Given the description of an element on the screen output the (x, y) to click on. 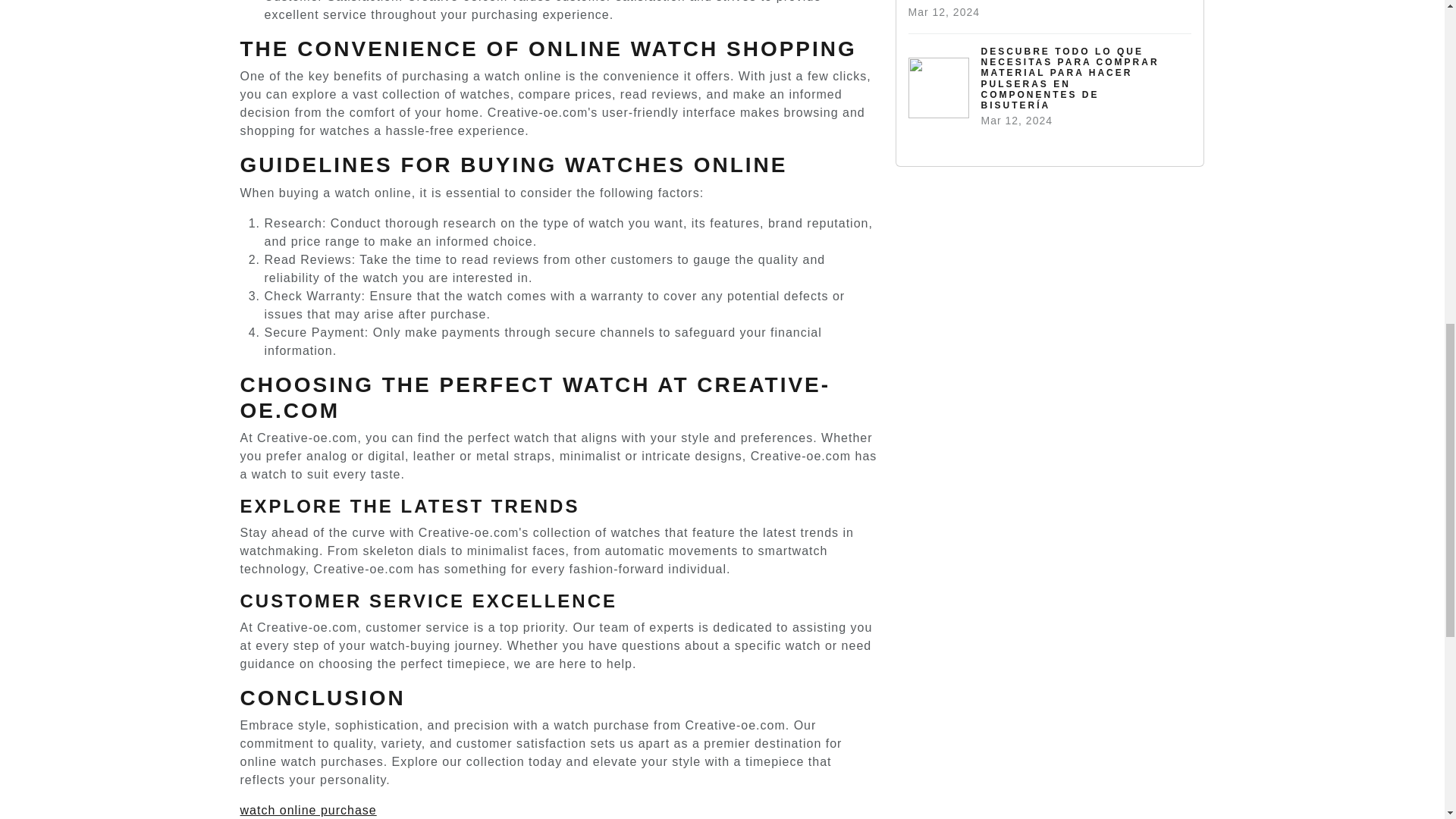
watch online purchase (307, 809)
